Given the description of an element on the screen output the (x, y) to click on. 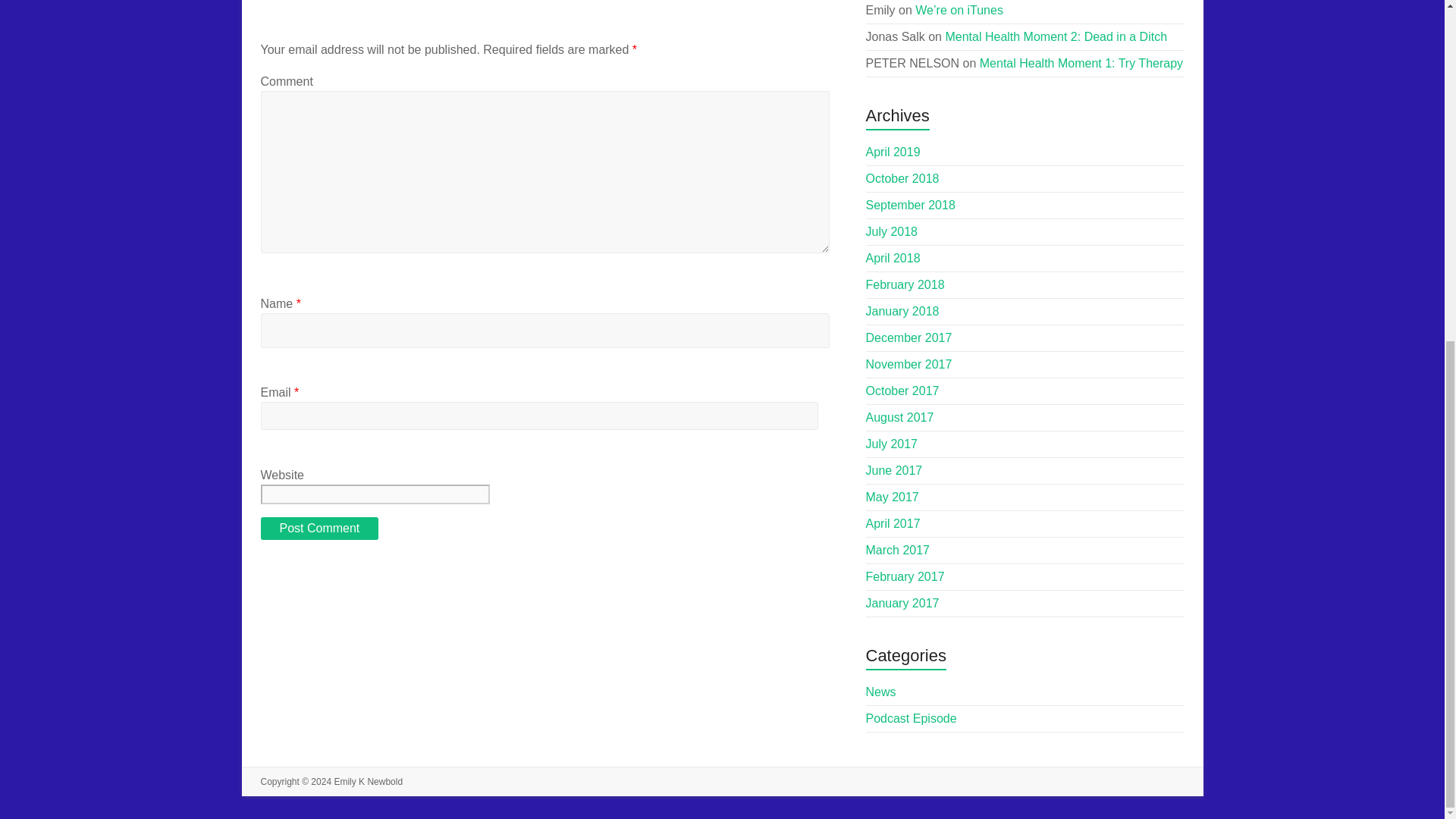
December 2017 (909, 337)
Post Comment (319, 527)
Mental Health Moment 1: Try Therapy (1080, 62)
March 2017 (898, 549)
April 2017 (893, 522)
October 2017 (902, 390)
January 2018 (902, 310)
September 2018 (910, 205)
April 2018 (893, 257)
October 2018 (902, 178)
